Given the description of an element on the screen output the (x, y) to click on. 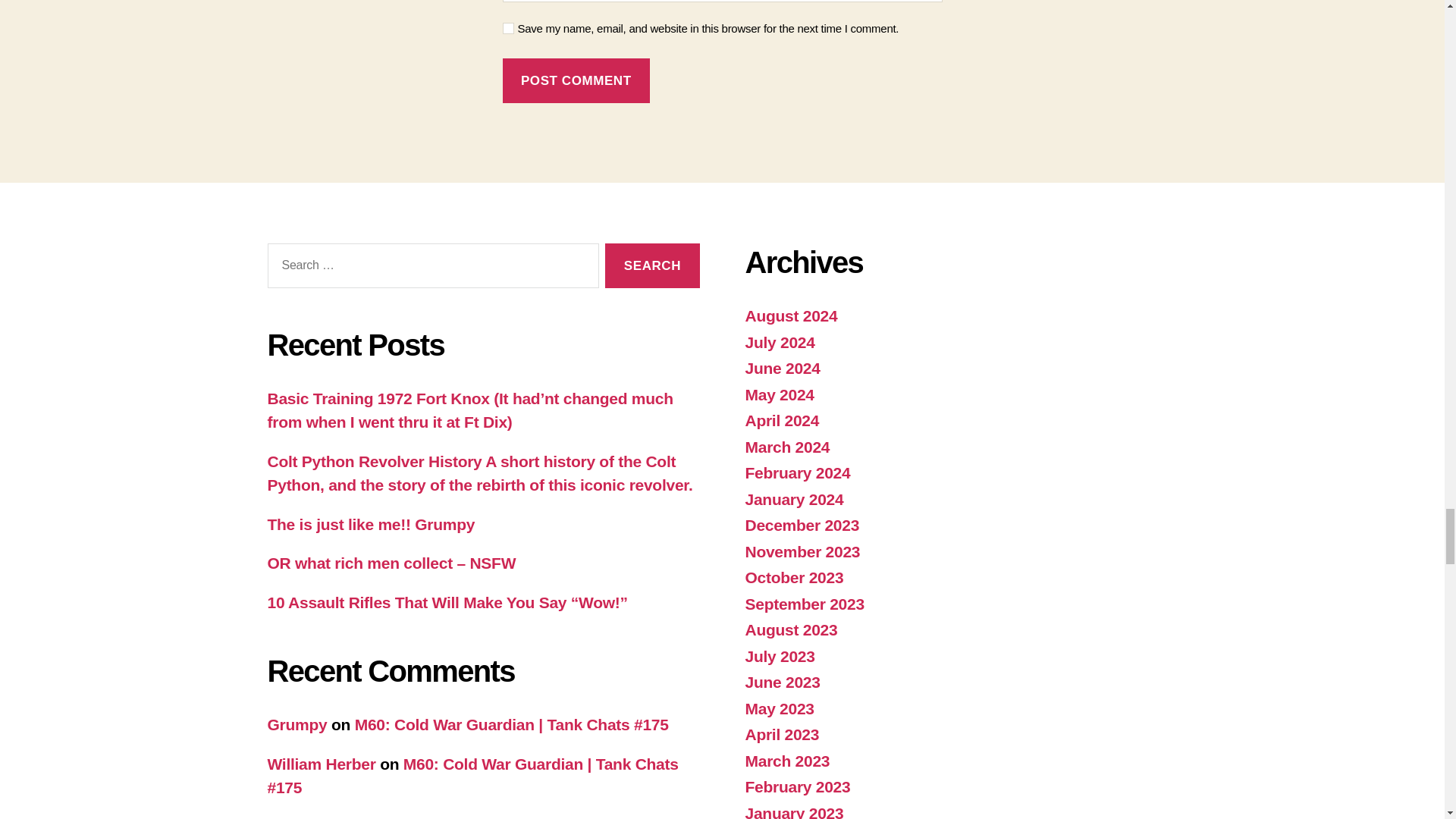
Post Comment (575, 80)
Search (651, 265)
Search (651, 265)
yes (507, 28)
